Given the description of an element on the screen output the (x, y) to click on. 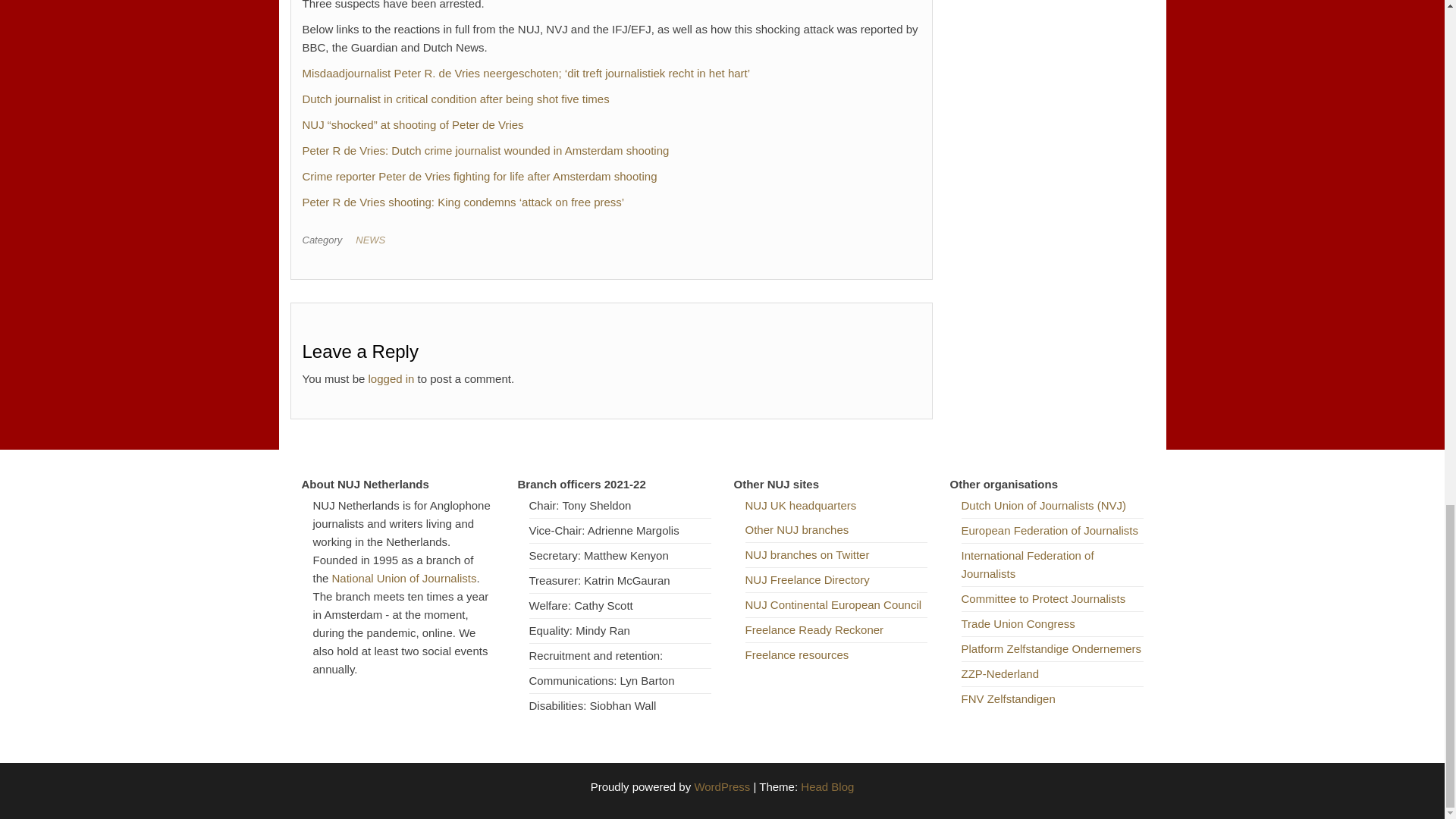
NUJ UK headquarters (800, 504)
NUJ Continental European Council (832, 604)
NEWS (373, 239)
Other NUJ branches (796, 529)
Freelance resources (796, 654)
logged in (391, 378)
NUJ branches on Twitter (806, 554)
National Union of Journalists (404, 577)
